Given the description of an element on the screen output the (x, y) to click on. 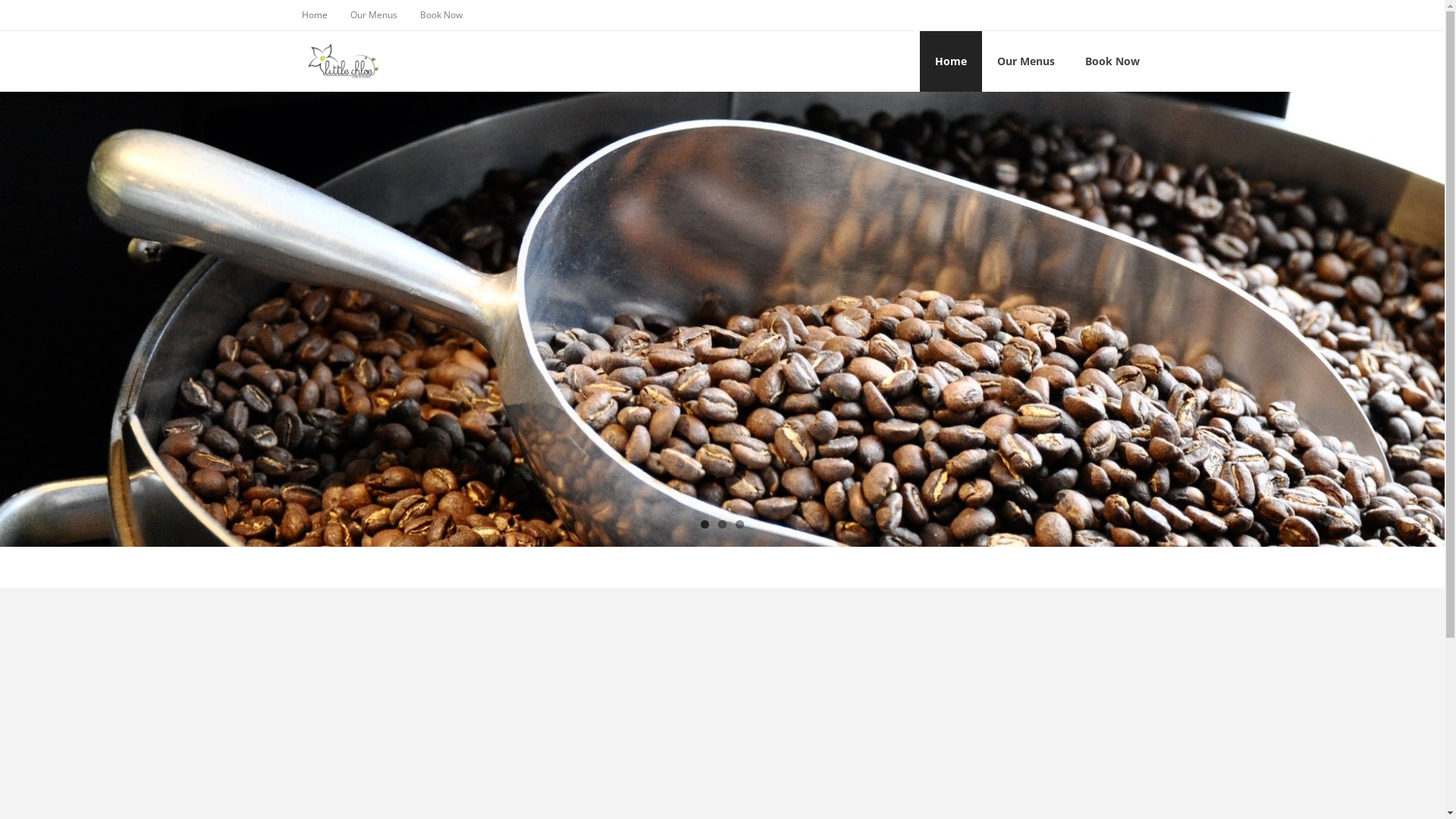
Home Element type: text (313, 15)
1 Element type: text (704, 524)
Book Now Element type: text (1111, 61)
3 Element type: text (739, 524)
Book Now Element type: text (440, 15)
2 Element type: text (722, 524)
Our Menus Element type: text (1025, 61)
Home Element type: text (950, 61)
Our Menus Element type: text (372, 15)
